Given the description of an element on the screen output the (x, y) to click on. 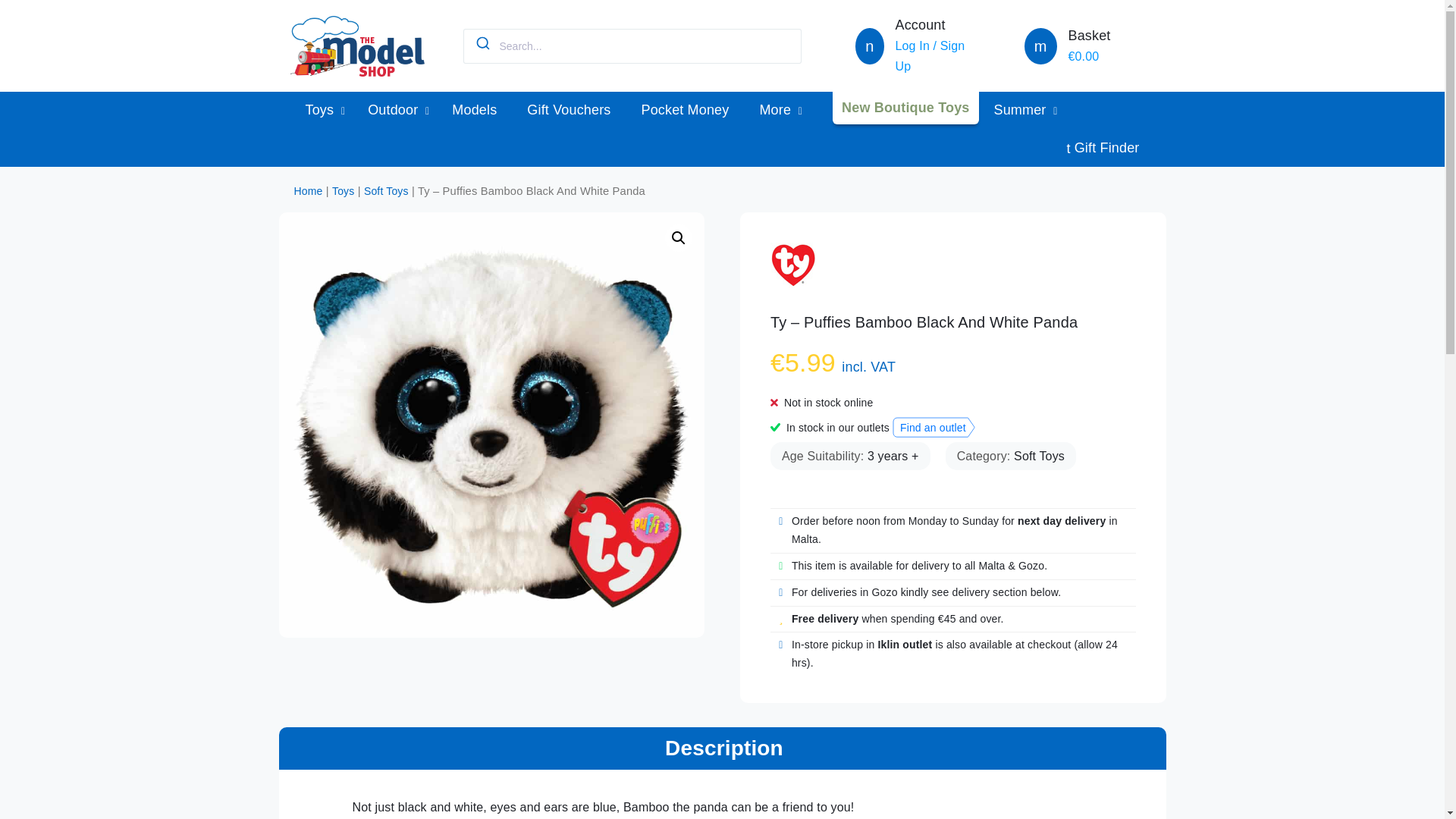
n (869, 47)
Find an outlet (933, 426)
Toys (320, 109)
Outdoor (394, 109)
m (1041, 47)
Submit (481, 43)
